Given the description of an element on the screen output the (x, y) to click on. 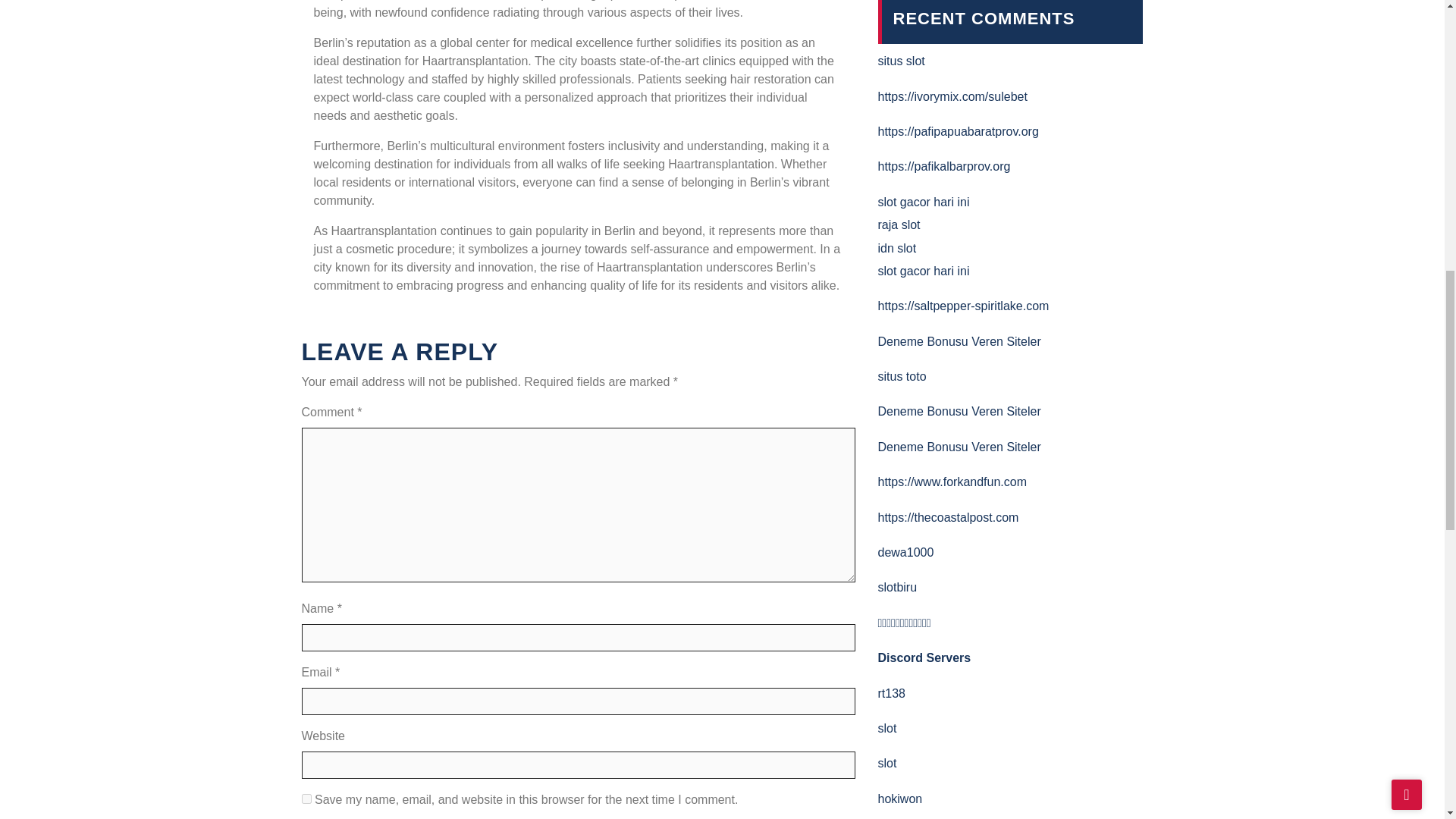
slot gacor hari ini (923, 270)
slot gacor hari ini (923, 201)
situs slot (900, 60)
idn slot (897, 247)
slotbiru (897, 586)
yes (306, 798)
dewa1000 (905, 552)
Deneme Bonusu Veren Siteler (959, 446)
Deneme Bonusu Veren Siteler (959, 341)
Deneme Bonusu Veren Siteler (959, 410)
Discord Servers (924, 657)
raja slot (898, 224)
situs toto (901, 376)
